Given the description of an element on the screen output the (x, y) to click on. 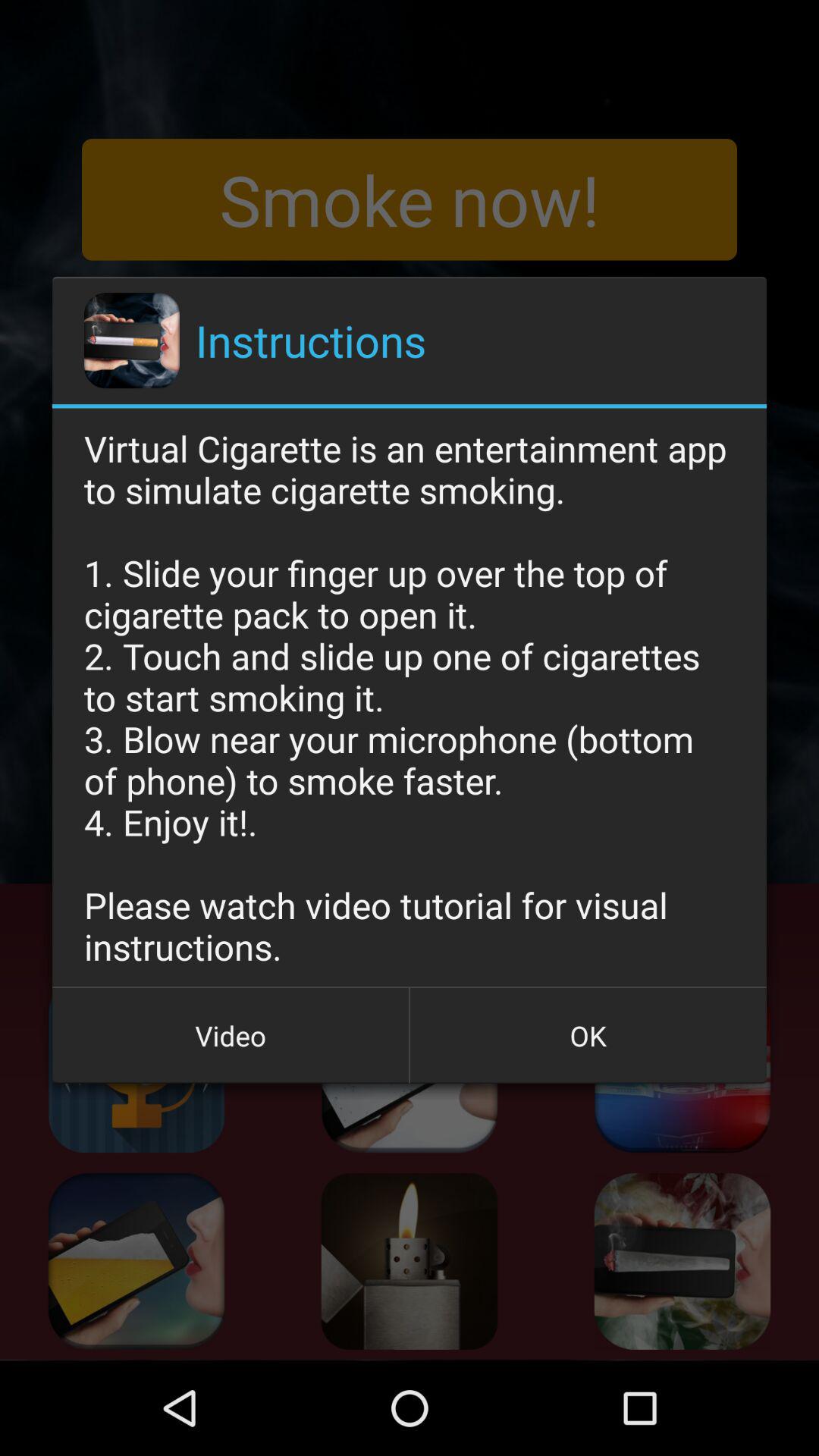
turn on item below virtual cigarette is icon (230, 1035)
